Given the description of an element on the screen output the (x, y) to click on. 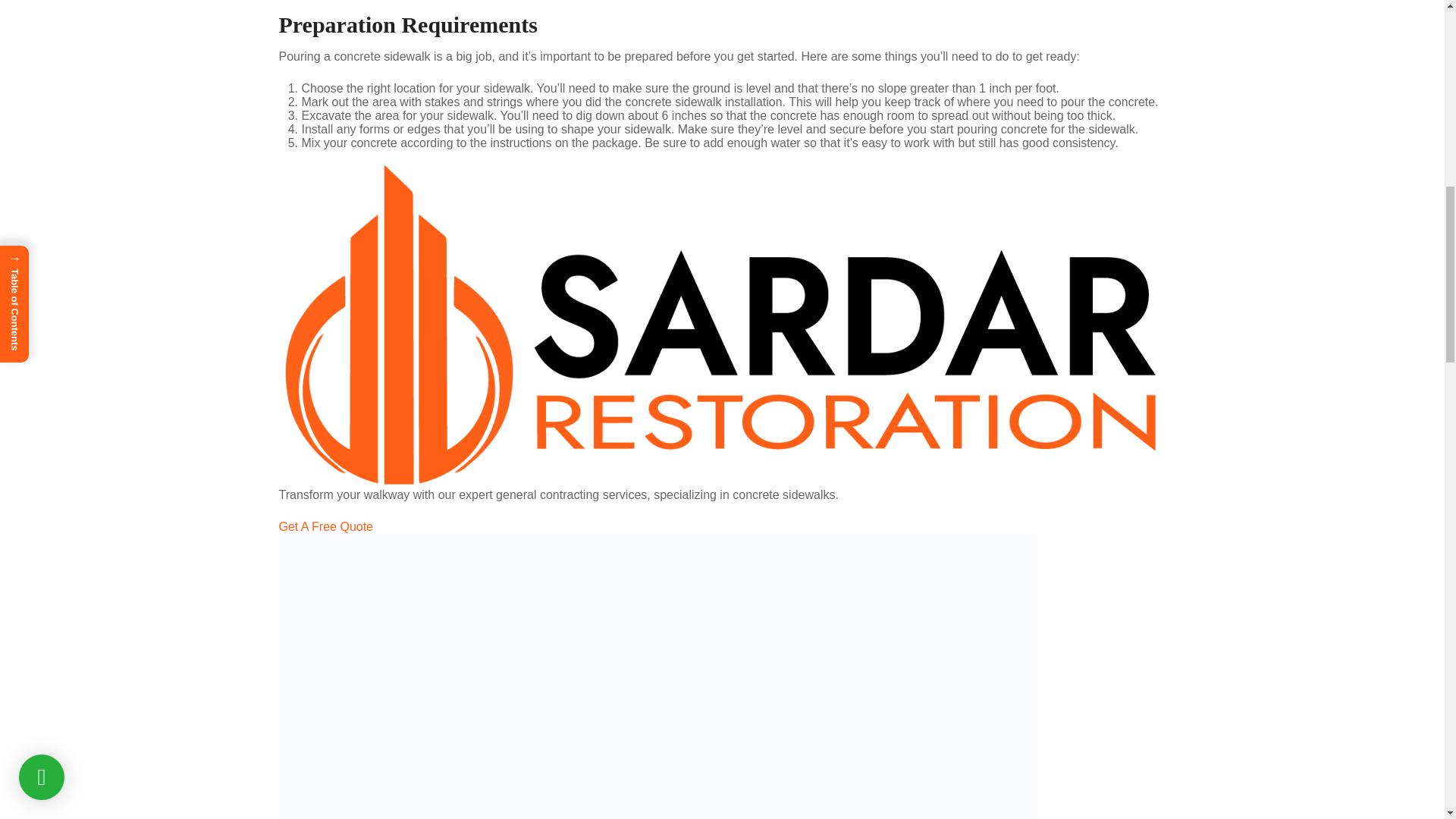
Get A Free Quote (722, 526)
